Given the description of an element on the screen output the (x, y) to click on. 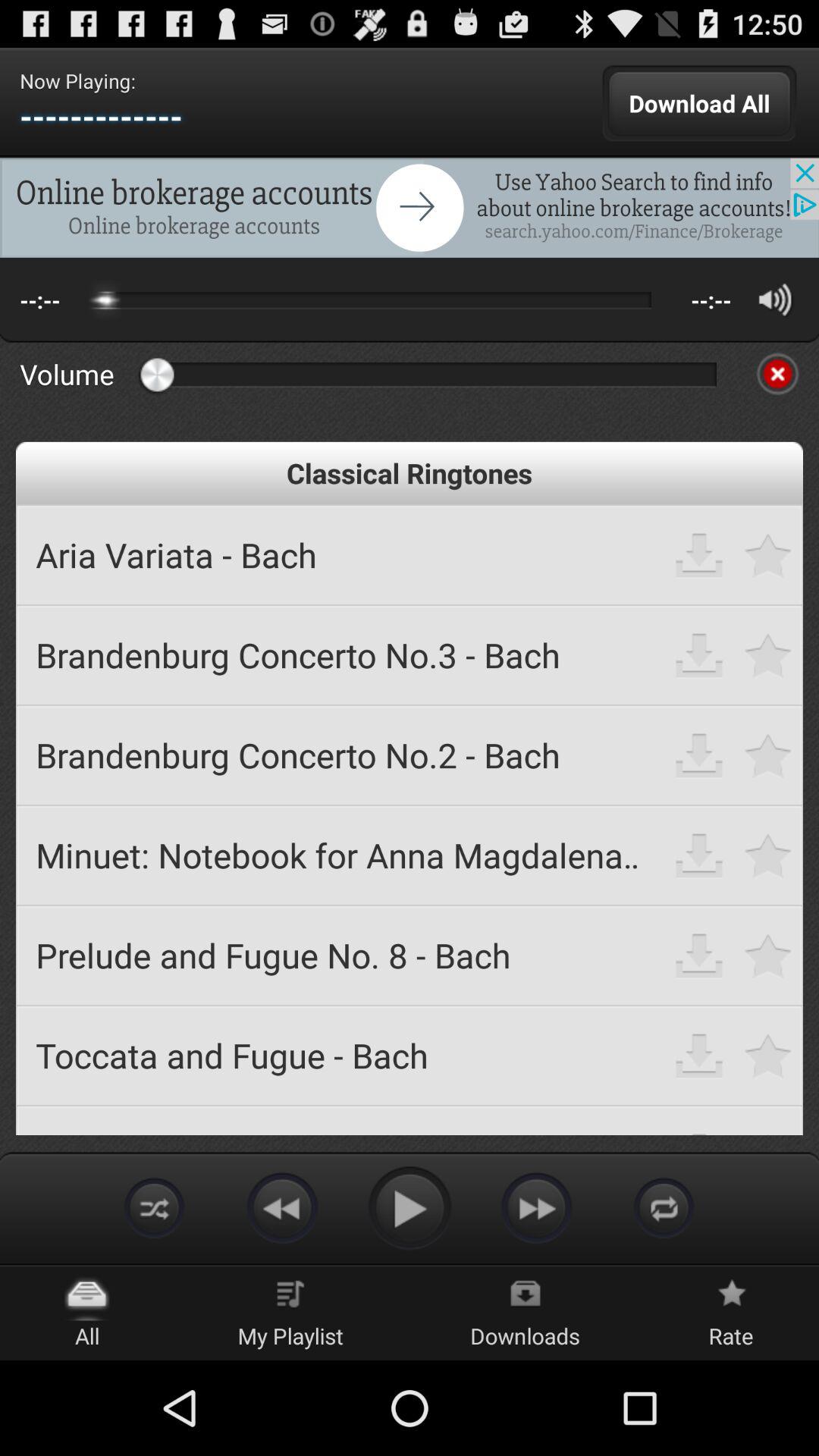
download song (699, 954)
